Given the description of an element on the screen output the (x, y) to click on. 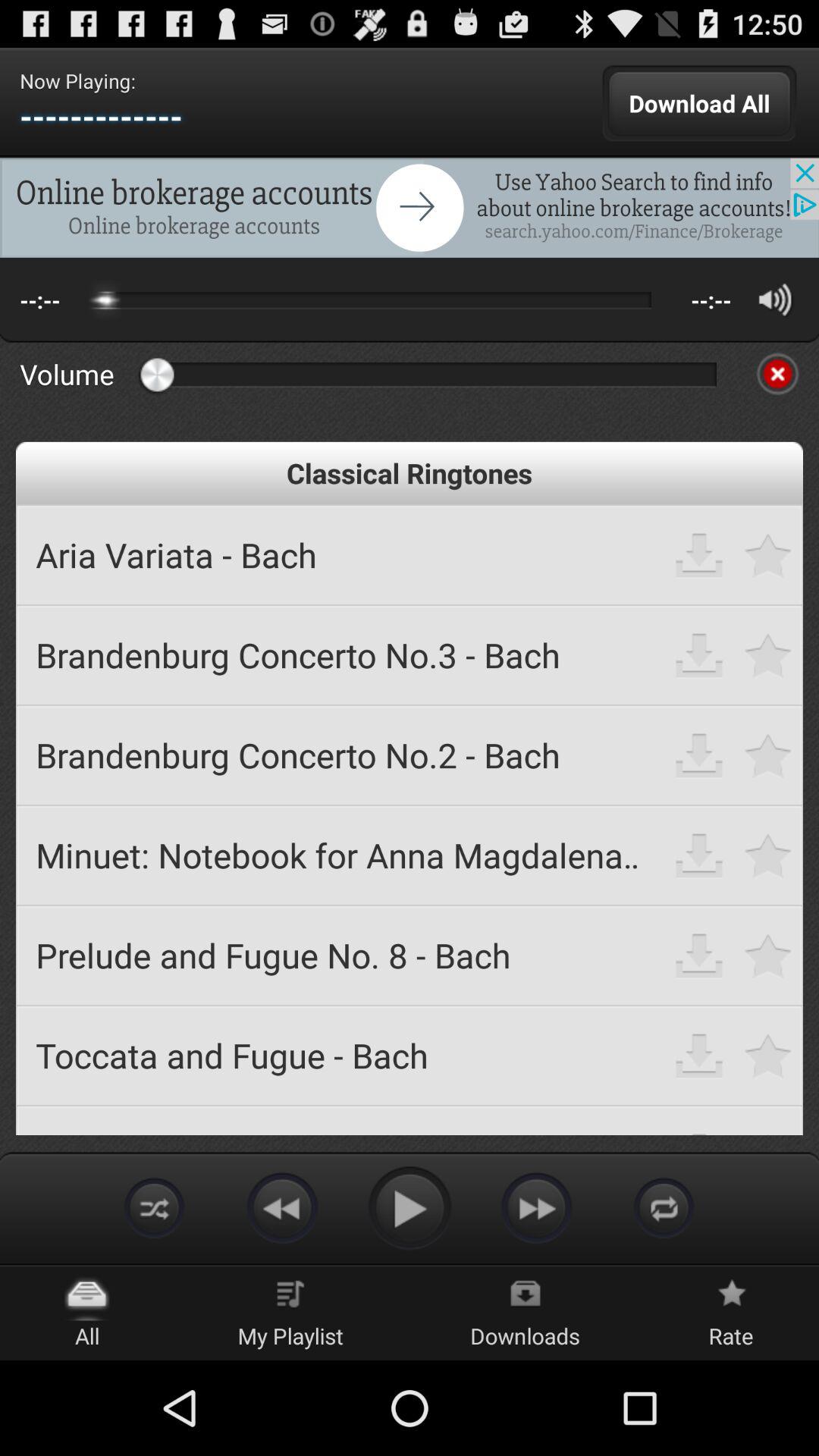
download song (699, 954)
